Given the description of an element on the screen output the (x, y) to click on. 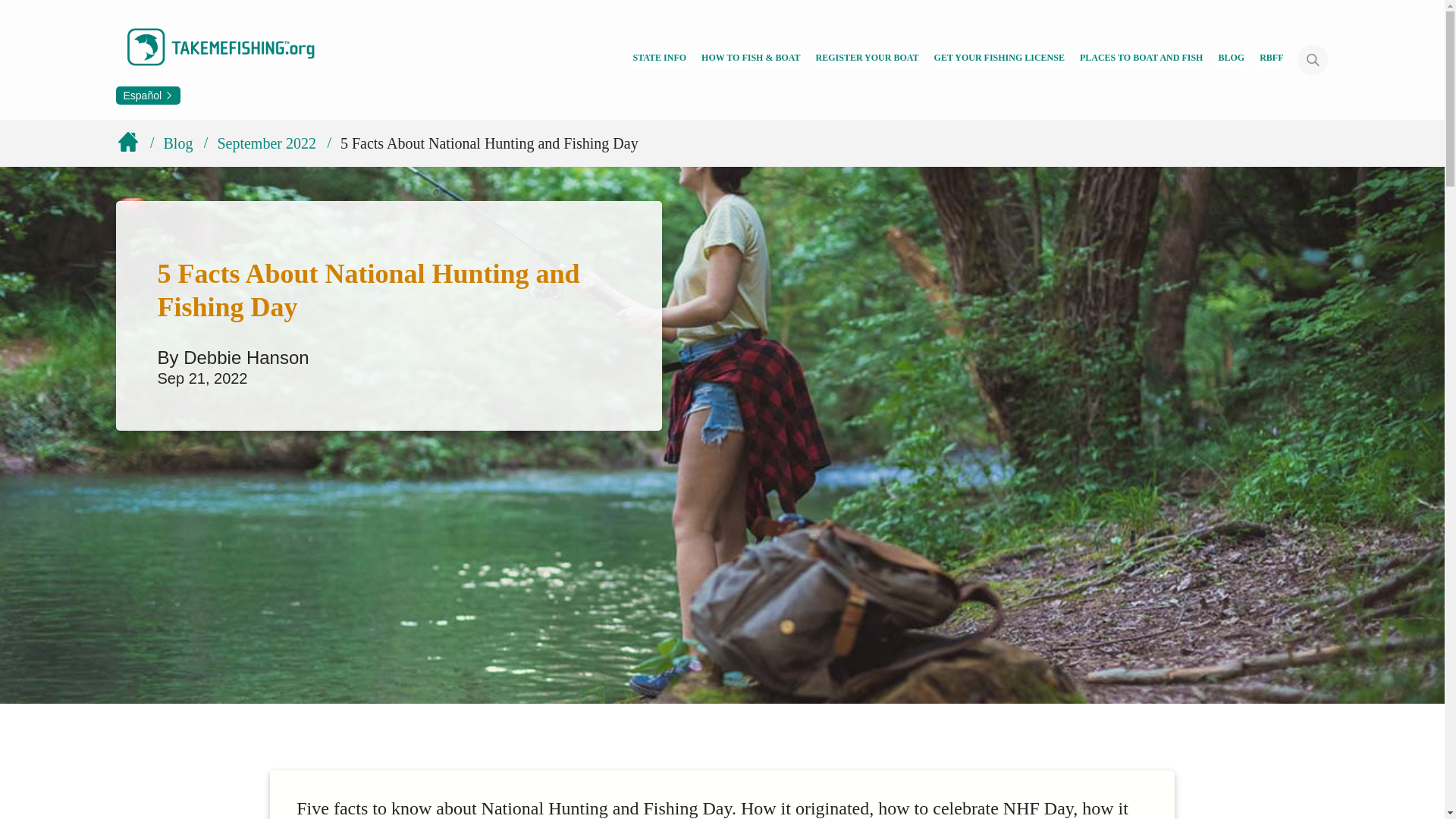
PLACES TO BOAT AND FISH (1142, 59)
RBFF (1270, 59)
REGISTER YOUR BOAT (866, 59)
RBFF (1270, 59)
GET YOUR FISHING LICENSE (999, 59)
Get Your Fishing License (999, 59)
Places To Boat And Fish (1142, 59)
BLOG (1230, 59)
Blog (1230, 59)
Register Your Boat (866, 59)
